Given the description of an element on the screen output the (x, y) to click on. 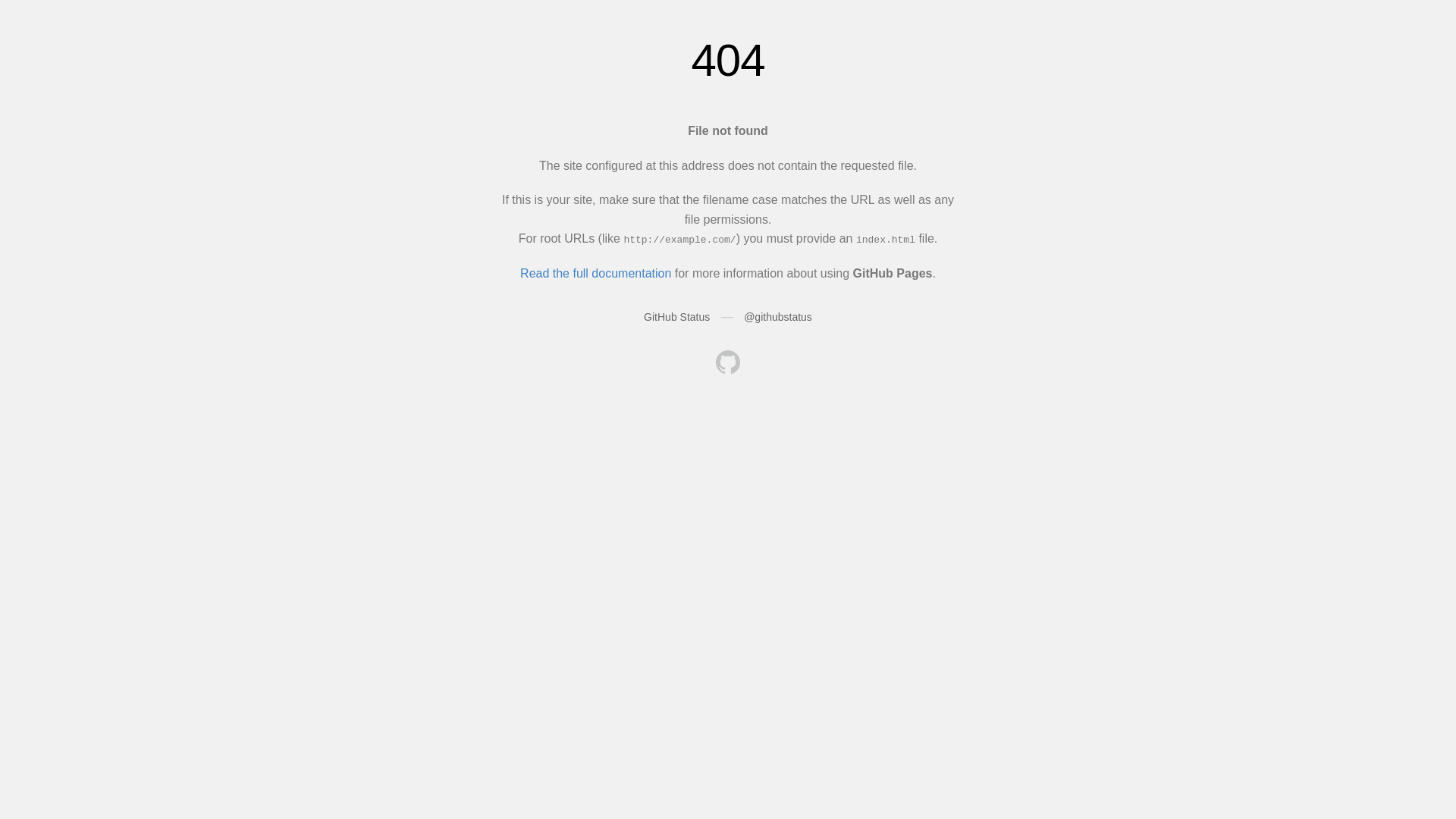
GitHub Status Element type: text (676, 316)
@githubstatus Element type: text (777, 316)
Read the full documentation Element type: text (595, 272)
